Given the description of an element on the screen output the (x, y) to click on. 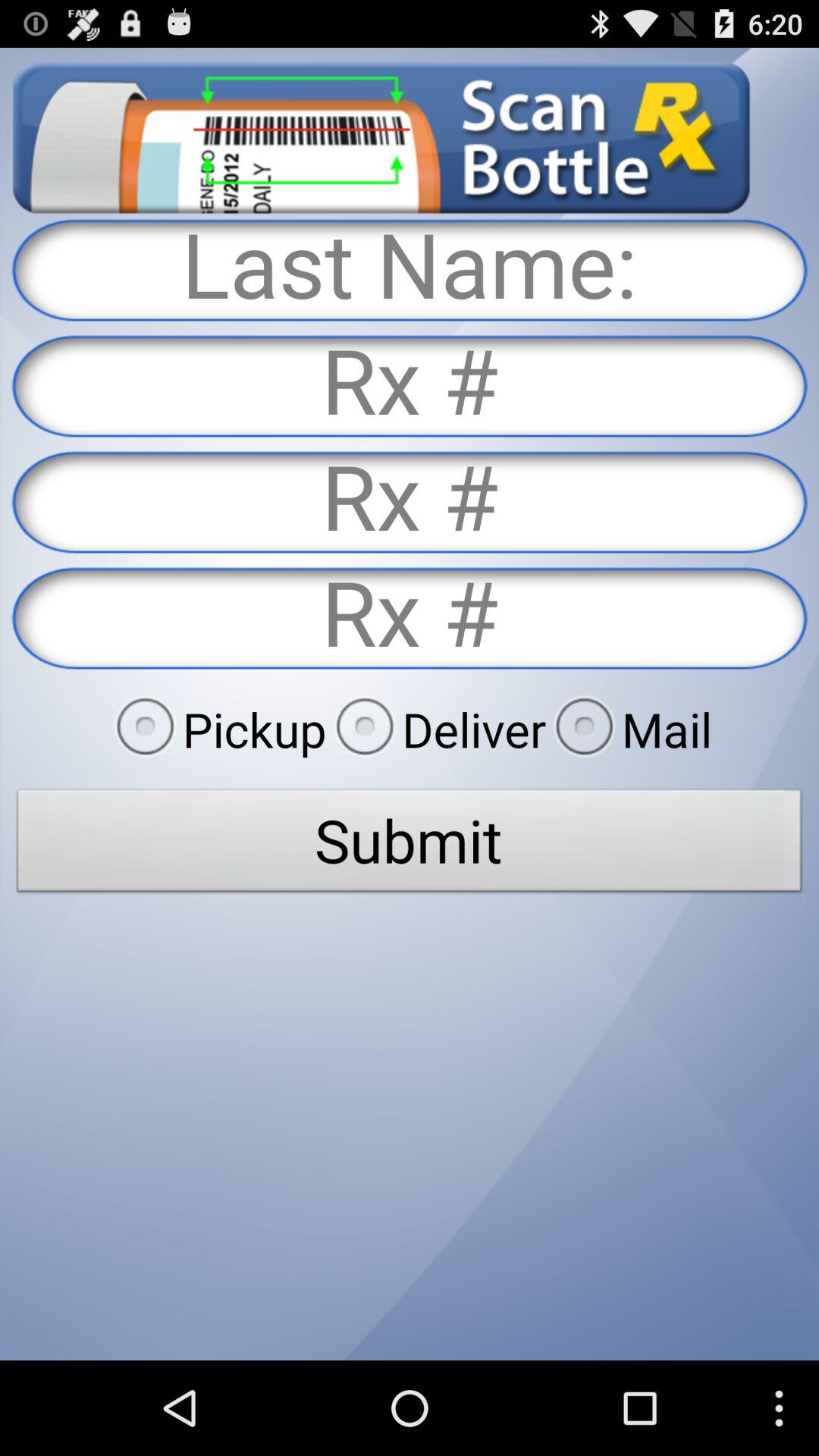
choose the radio button to the right of the deliver item (629, 728)
